Given the description of an element on the screen output the (x, y) to click on. 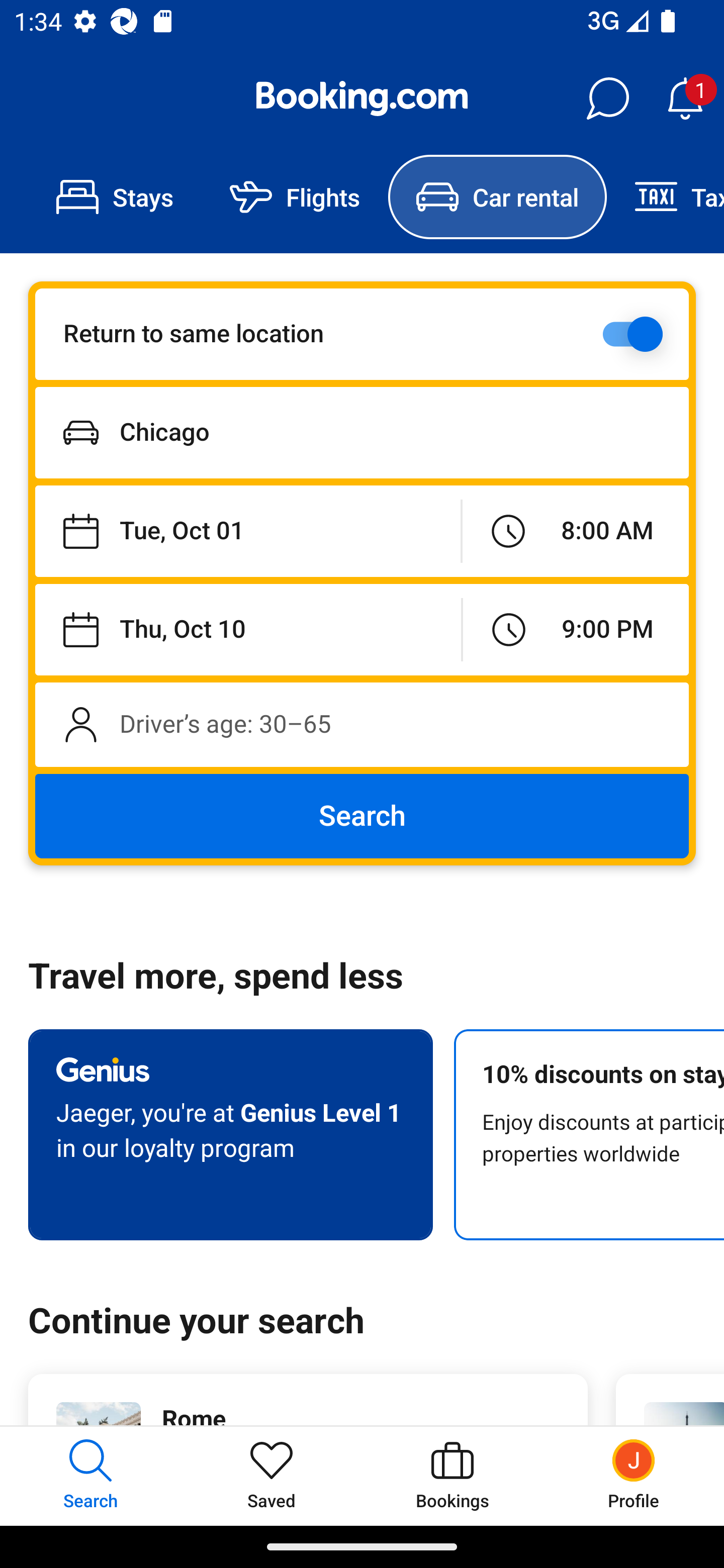
Messages (607, 98)
Notifications (685, 98)
Stays (114, 197)
Flights (294, 197)
Car rental (497, 197)
Taxi (665, 197)
Pick-up location: Text(name=Chicago) (361, 432)
Pick-up date: 2024-10-01 (247, 531)
Pick-up time: 08:00:00.000 (575, 531)
Drop-off date: 2024-10-10 (248, 629)
Drop-off time: 21:00:00.000 (575, 629)
Enter the driver's age (361, 724)
Search (361, 815)
Saved (271, 1475)
Bookings (452, 1475)
Profile (633, 1475)
